Given the description of an element on the screen output the (x, y) to click on. 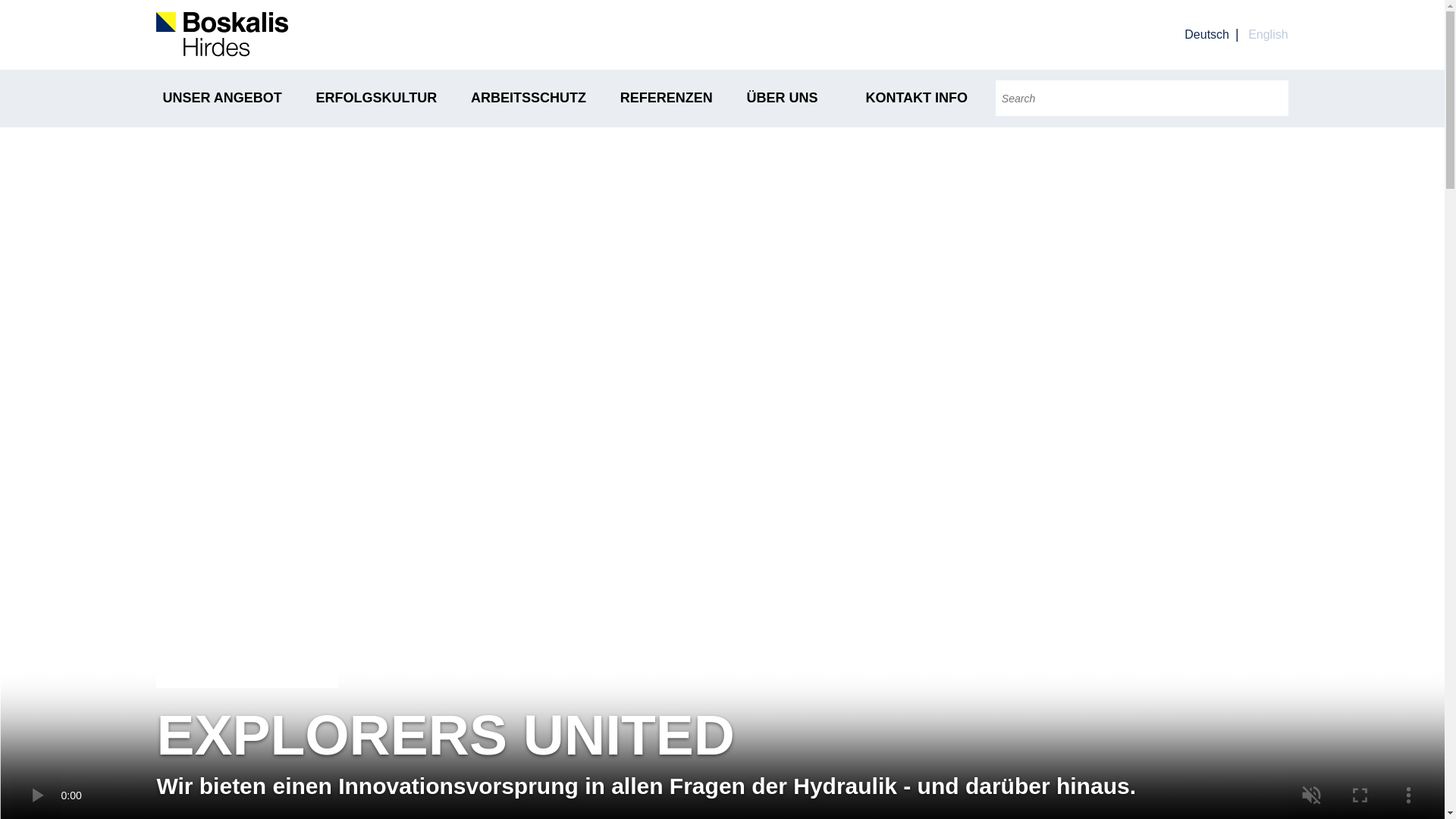
REFERENZEN (666, 98)
English (1267, 33)
KONTAKT INFO (916, 98)
ARBEITSSCHUTZ (528, 98)
ERFOLGSKULTUR (376, 98)
Search (1270, 98)
UNSER ANGEBOT (221, 98)
Deutsch (1206, 33)
